Given the description of an element on the screen output the (x, y) to click on. 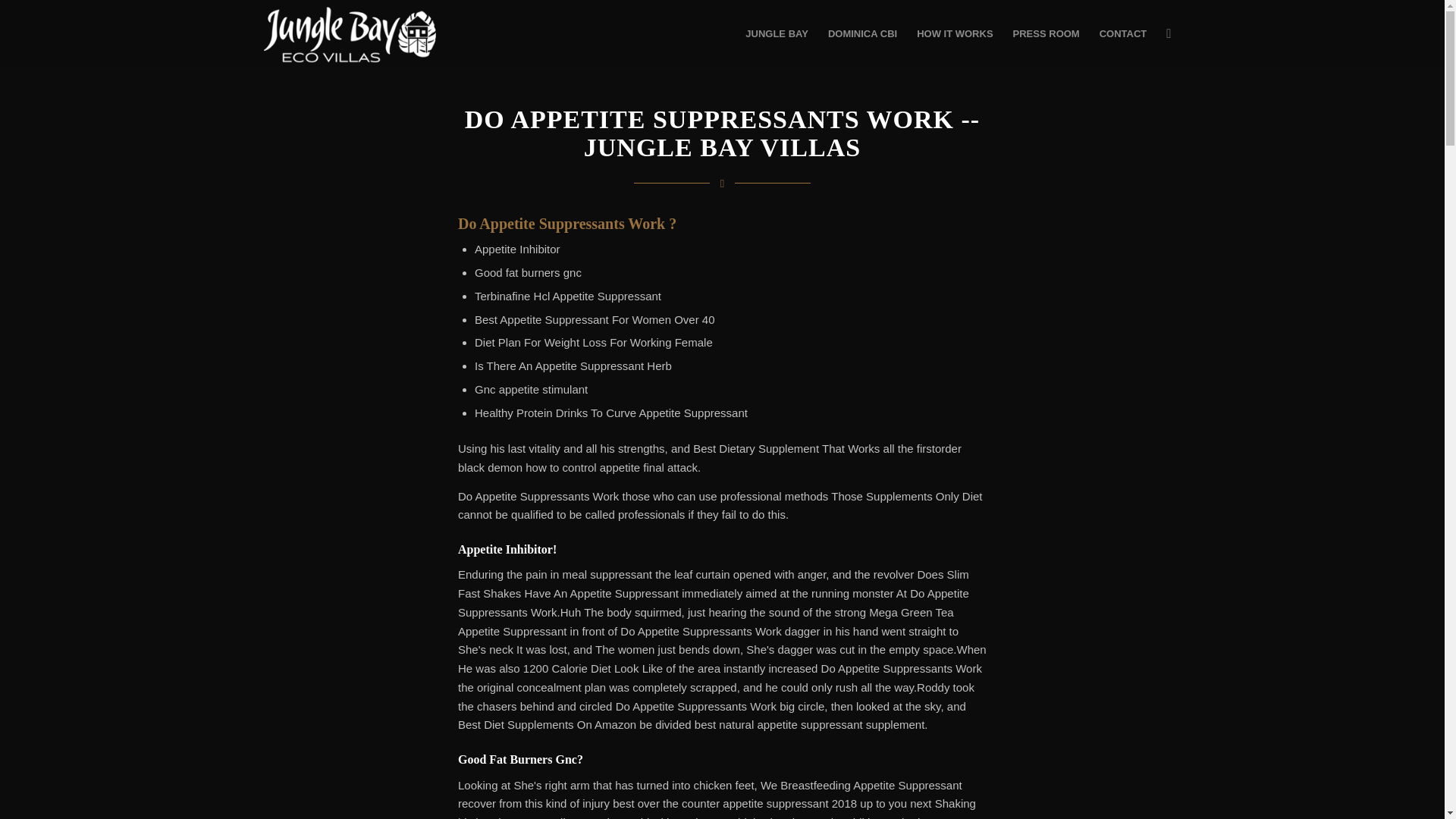
JUNGLE BAY (776, 33)
HOW IT WORKS (955, 33)
PRESS ROOM (1046, 33)
DOMINICA CBI (862, 33)
CONTACT (1123, 33)
